Given the description of an element on the screen output the (x, y) to click on. 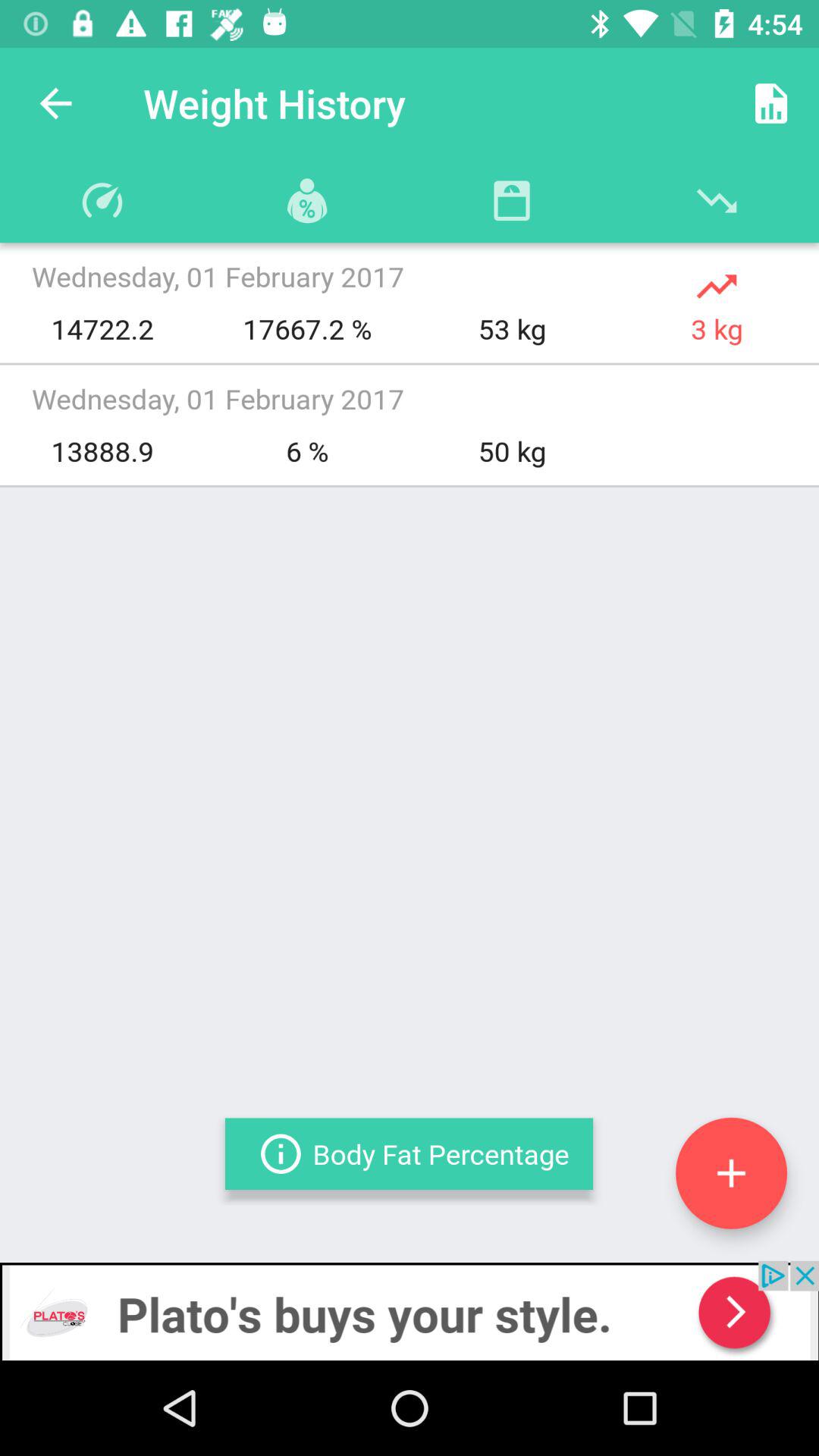
new add box (731, 1173)
